Given the description of an element on the screen output the (x, y) to click on. 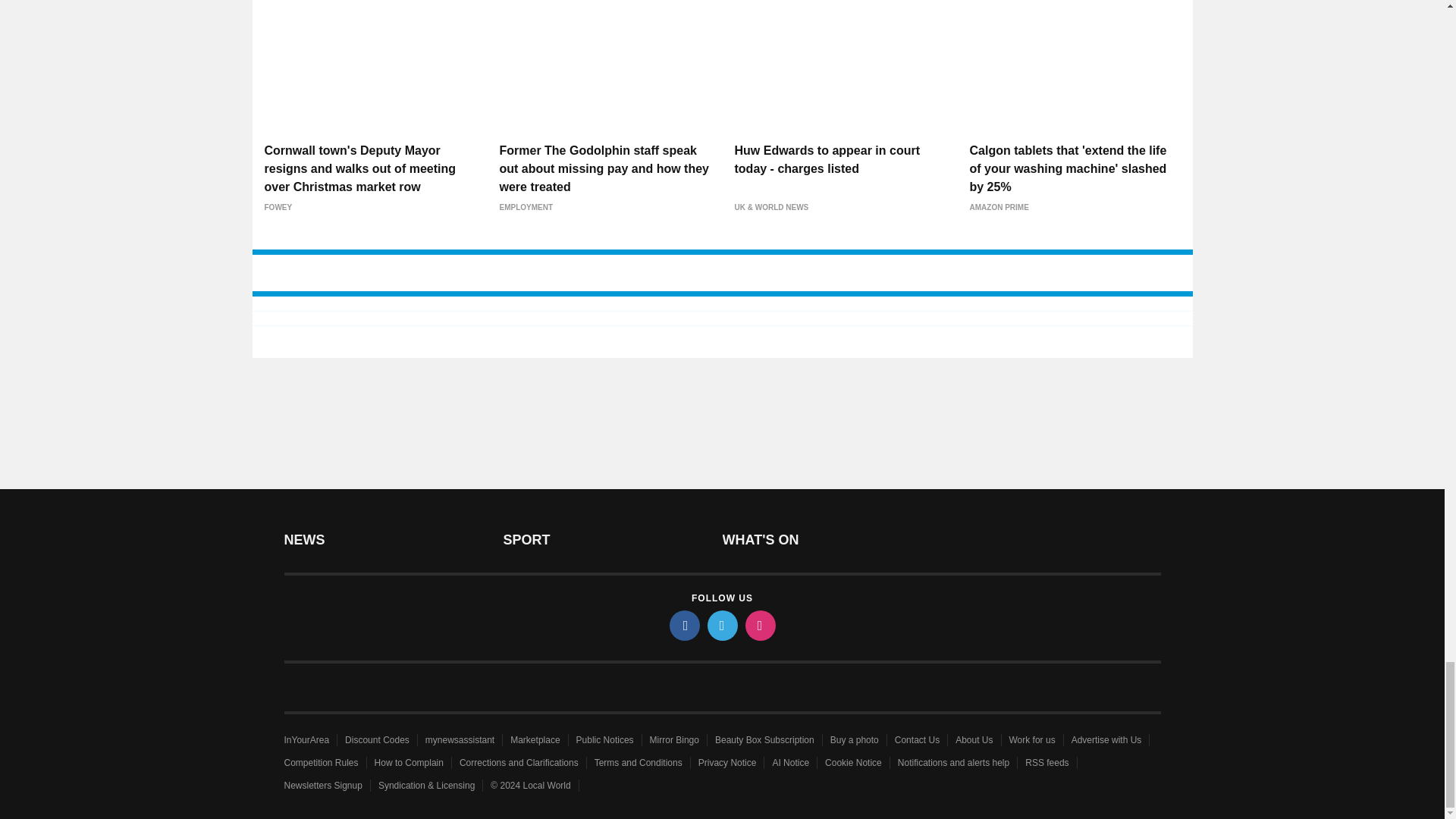
twitter (721, 625)
facebook (683, 625)
instagram (759, 625)
